Given the description of an element on the screen output the (x, y) to click on. 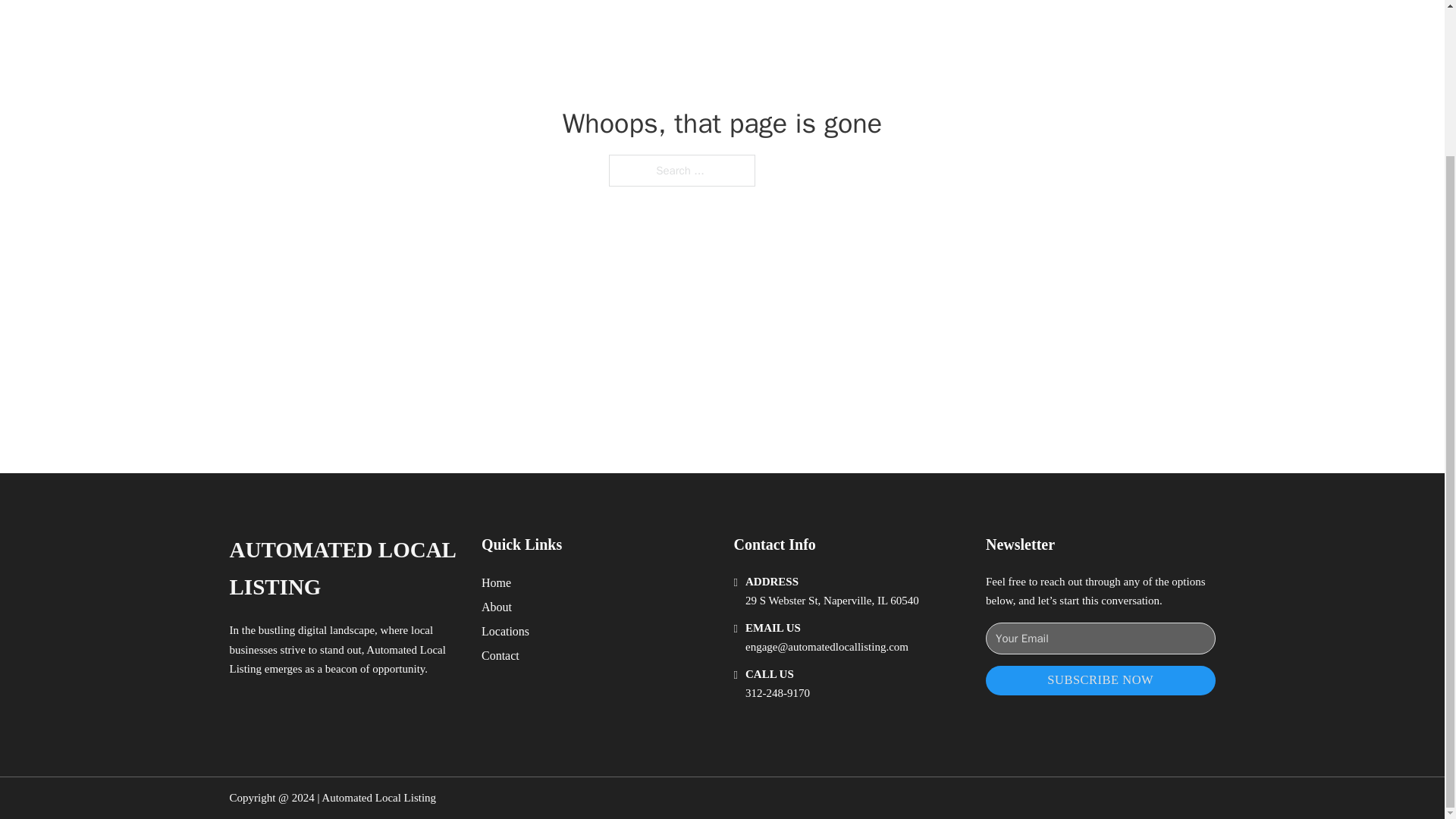
Contact (500, 655)
SUBSCRIBE NOW (1100, 680)
AUTOMATED LOCAL LISTING (343, 568)
312-248-9170 (777, 693)
Home (496, 582)
Locations (505, 630)
About (496, 607)
